Given the description of an element on the screen output the (x, y) to click on. 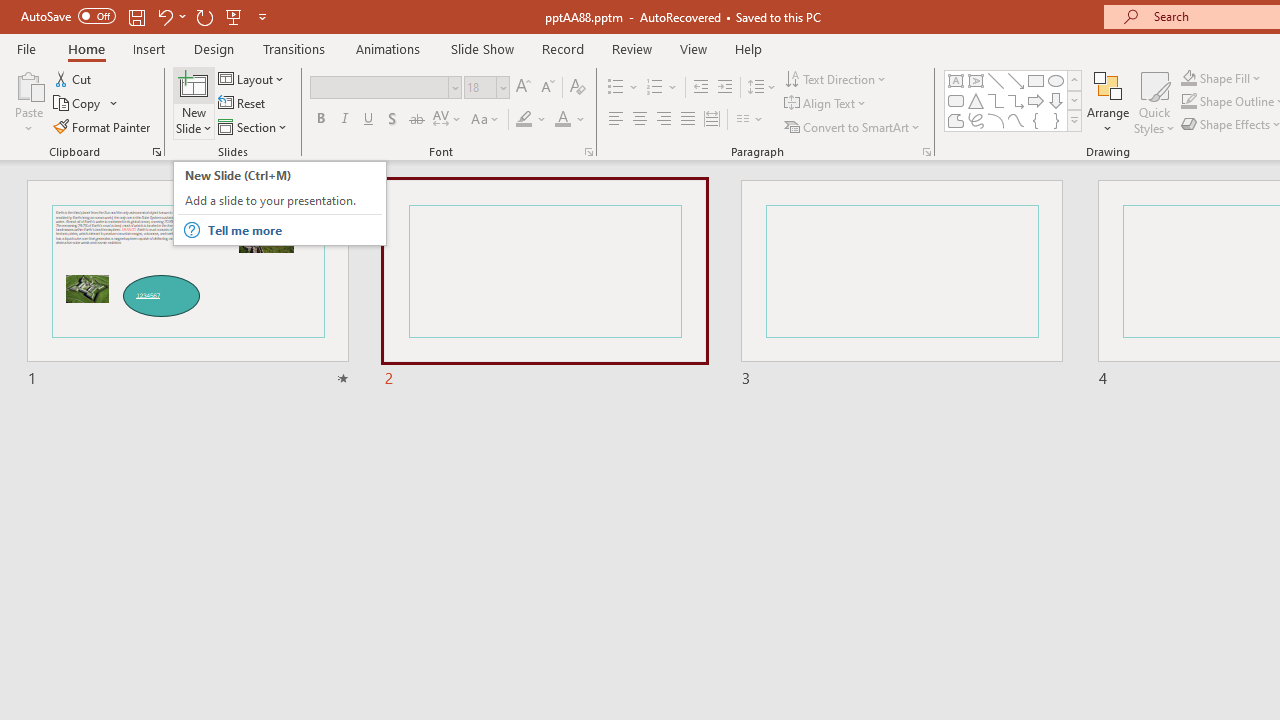
From Beginning (234, 15)
Customize Quick Access Toolbar (262, 15)
Connector: Elbow Arrow (1016, 100)
Bullets (616, 87)
Open (502, 87)
Numbering (661, 87)
Left Brace (1035, 120)
Text Highlight Color (531, 119)
Section (254, 126)
Record (562, 48)
System (10, 11)
AutoSave (68, 16)
Shapes (1074, 120)
Decrease Indent (700, 87)
View (693, 48)
